Given the description of an element on the screen output the (x, y) to click on. 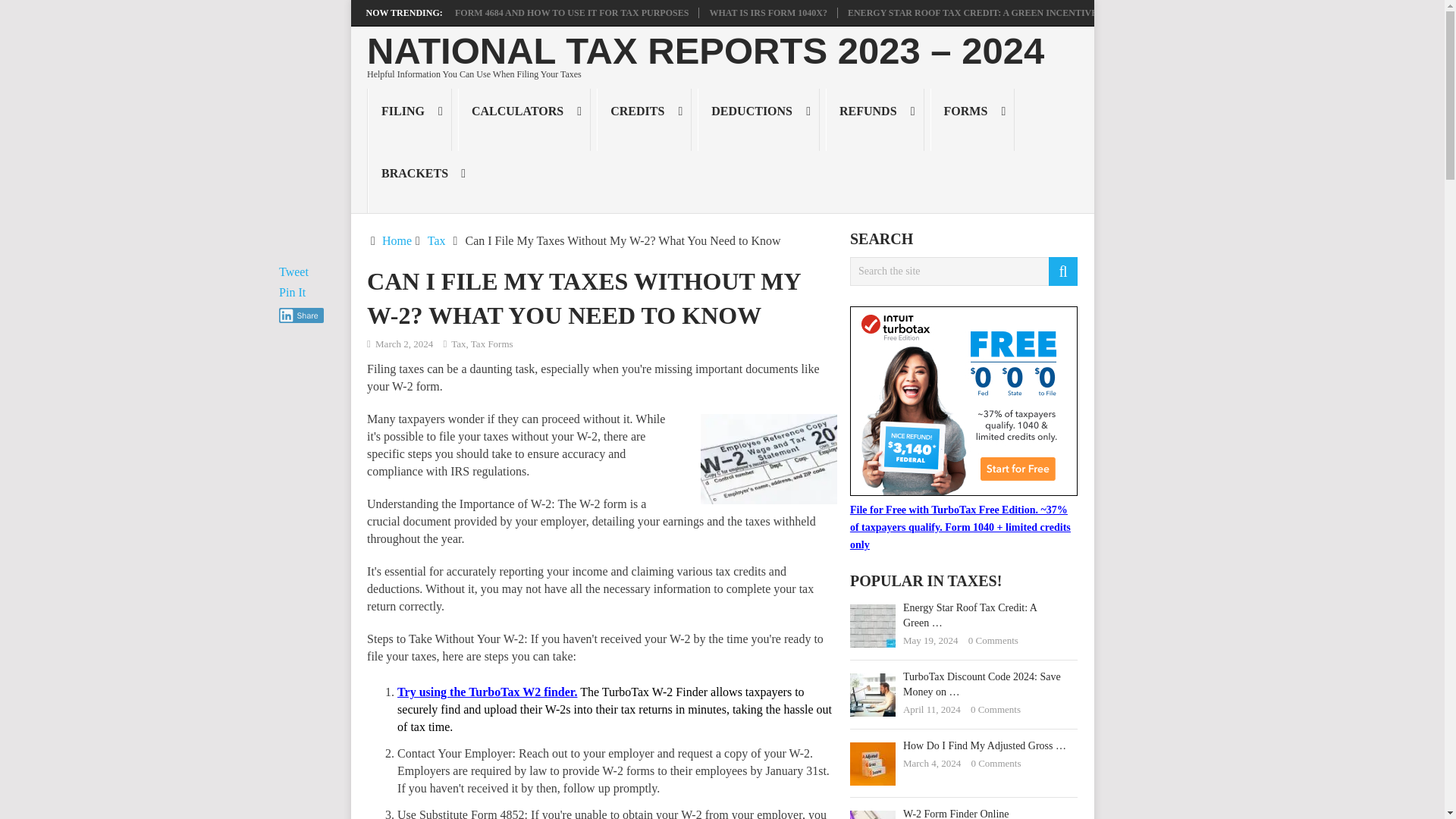
What is IRS Tax Form 4684 and How to Use It for Tax Purposes (531, 12)
DEDUCTIONS (758, 119)
CALCULATORS (524, 119)
What is IRS Form 1040X? (768, 12)
WHAT IS IRS TAX FORM 4684 AND HOW TO USE IT FOR TAX PURPOSES (531, 12)
WHAT IS IRS FORM 1040X? (768, 12)
View all posts in Tax (458, 343)
CREDITS (643, 119)
What is IRS Tax Form 1040 and How to Fill It Out Correctly (202, 12)
View all posts in Tax Forms (491, 343)
WHAT IS IRS TAX FORM 1040 AND HOW TO FILL IT OUT CORRECTLY (202, 12)
FILING (409, 119)
